Given the description of an element on the screen output the (x, y) to click on. 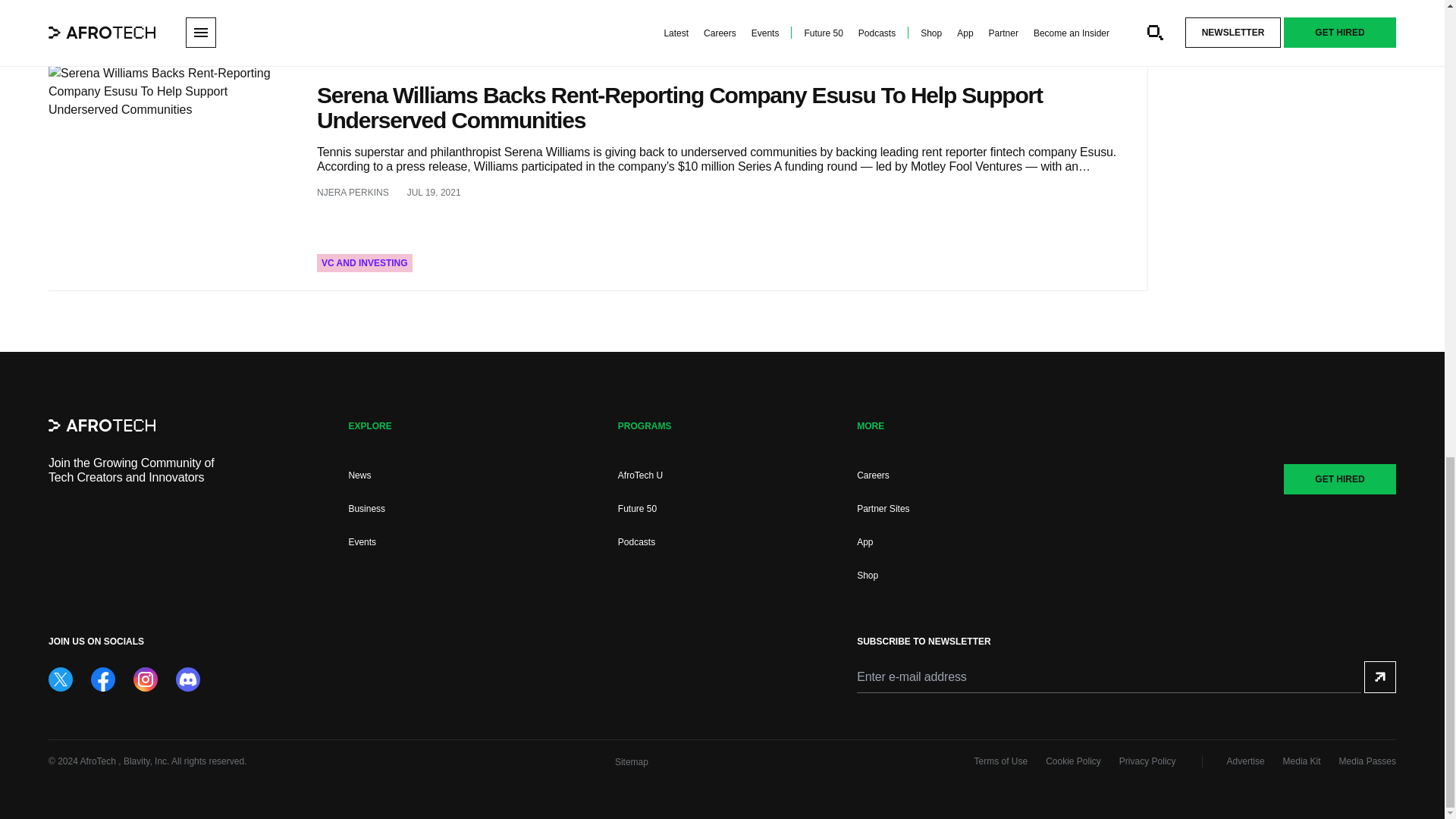
NJERA PERKINS (352, 192)
NEWS (335, 36)
Business (366, 508)
VC AND INVESTING (403, 36)
VC AND INVESTING (364, 262)
News (359, 475)
